Given the description of an element on the screen output the (x, y) to click on. 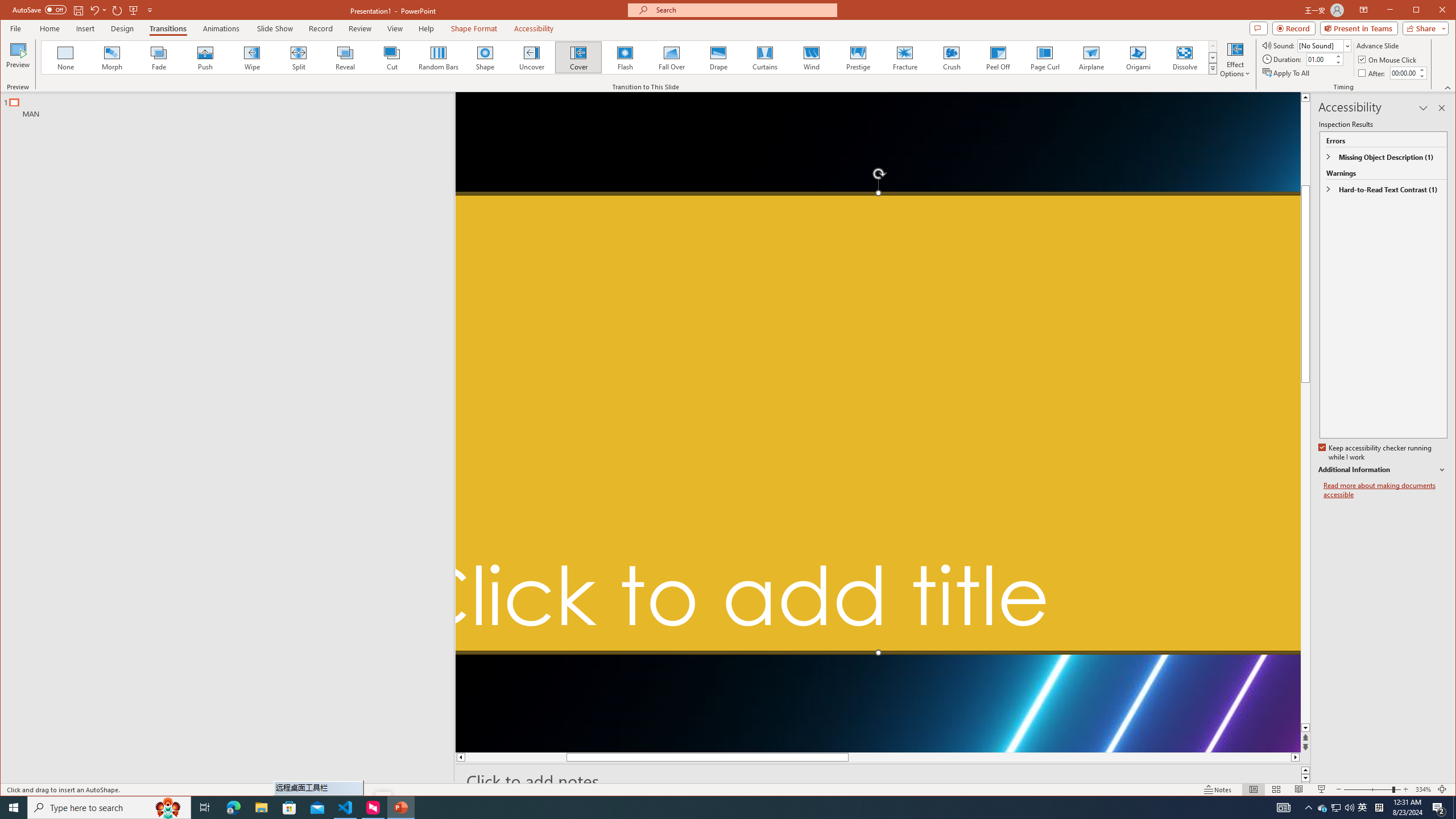
Airplane (1091, 57)
Prestige (1322, 807)
Read more about making documents accessible (857, 57)
After (1385, 489)
Duration (1403, 72)
